Given the description of an element on the screen output the (x, y) to click on. 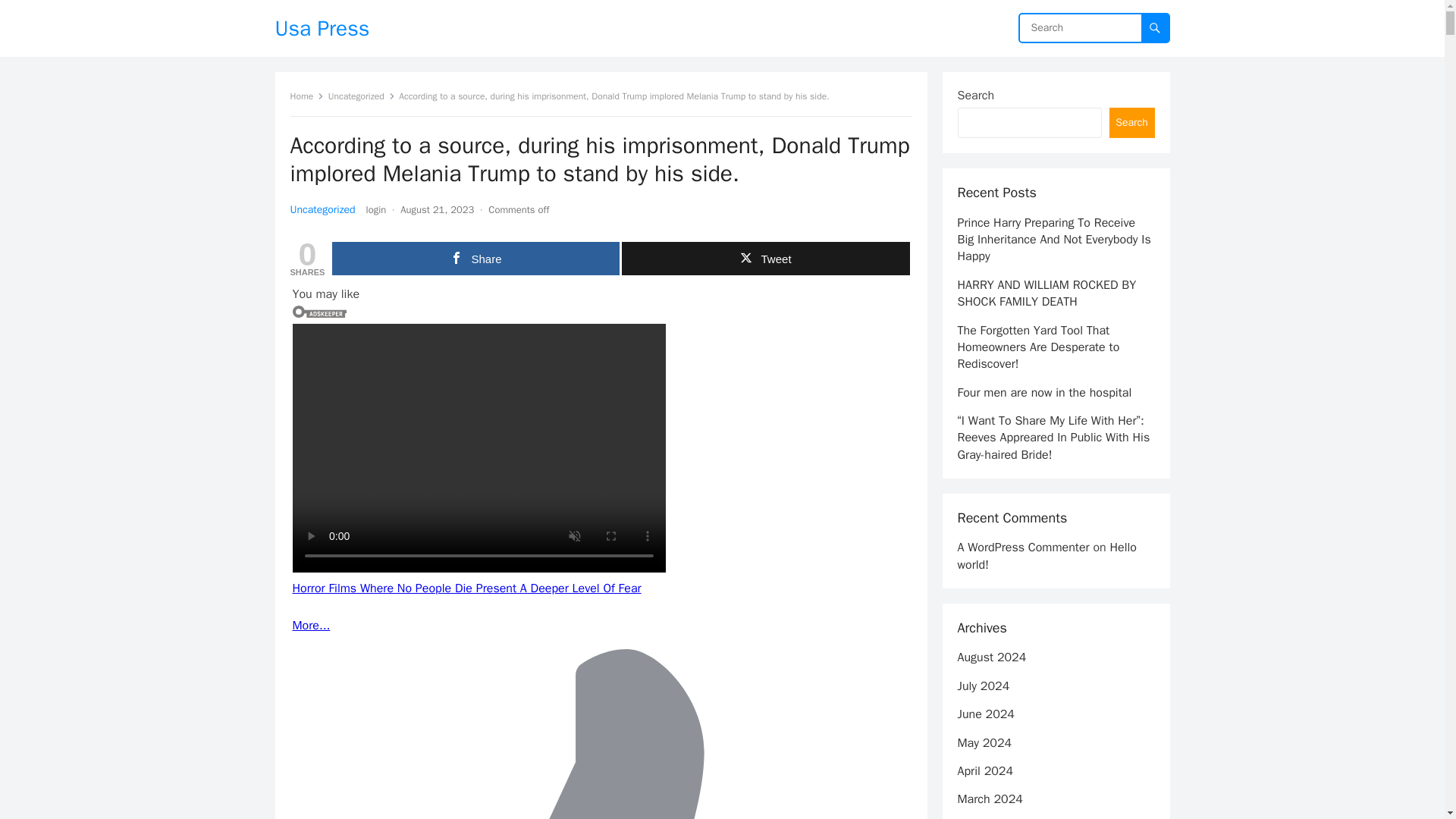
Share (475, 258)
Home (306, 96)
login (376, 209)
Uncategorized (322, 209)
Tweet (764, 258)
Uncategorized (361, 96)
Usa Press (322, 28)
Posts by login (376, 209)
